Given the description of an element on the screen output the (x, y) to click on. 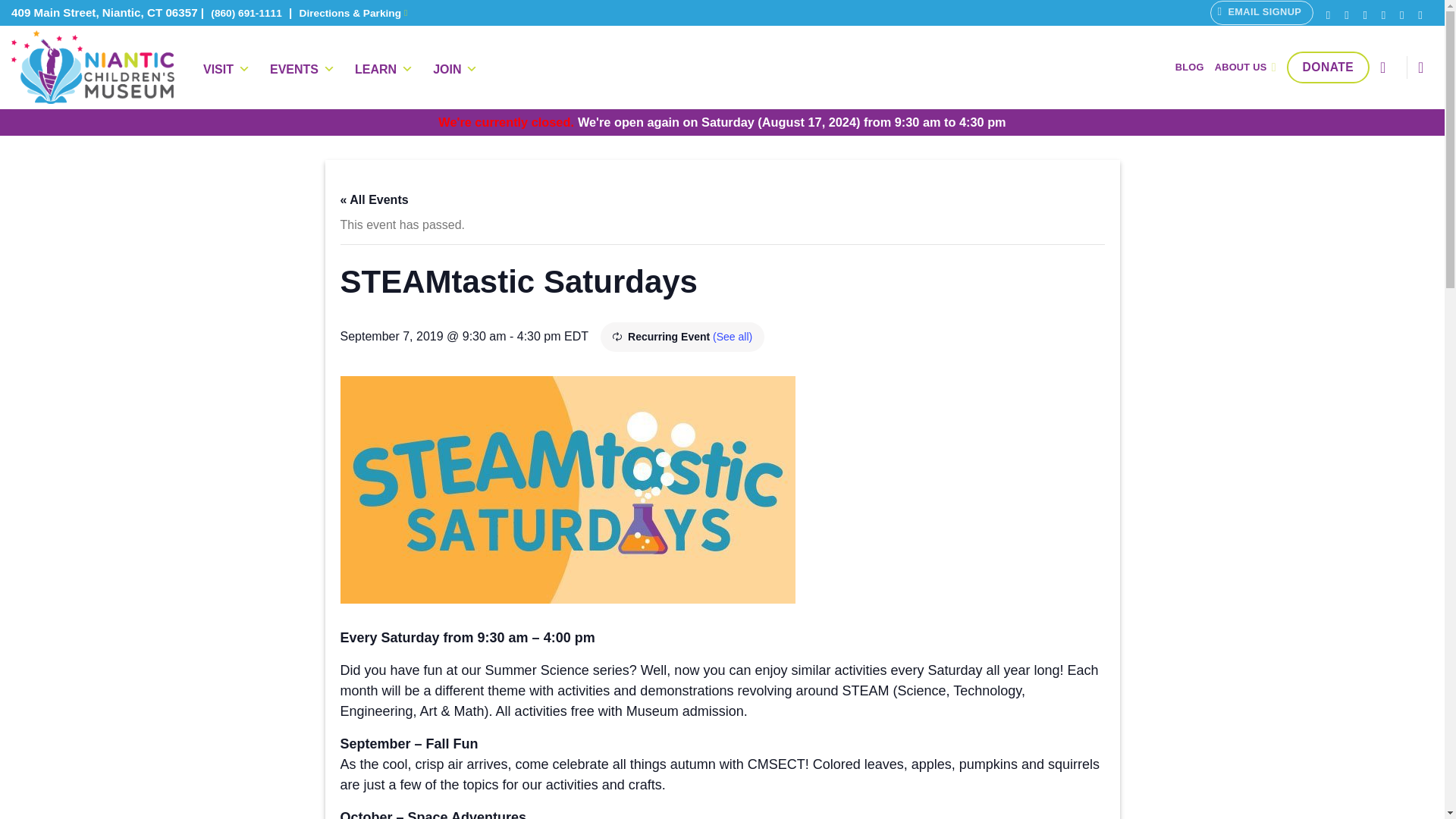
EMAIL SIGNUP (1261, 12)
ABOUT US (1245, 67)
VISIT (226, 69)
JOIN (454, 69)
EVENTS (301, 69)
Email Signup (1261, 12)
BLOG (1189, 67)
LEARN (384, 69)
